Given the description of an element on the screen output the (x, y) to click on. 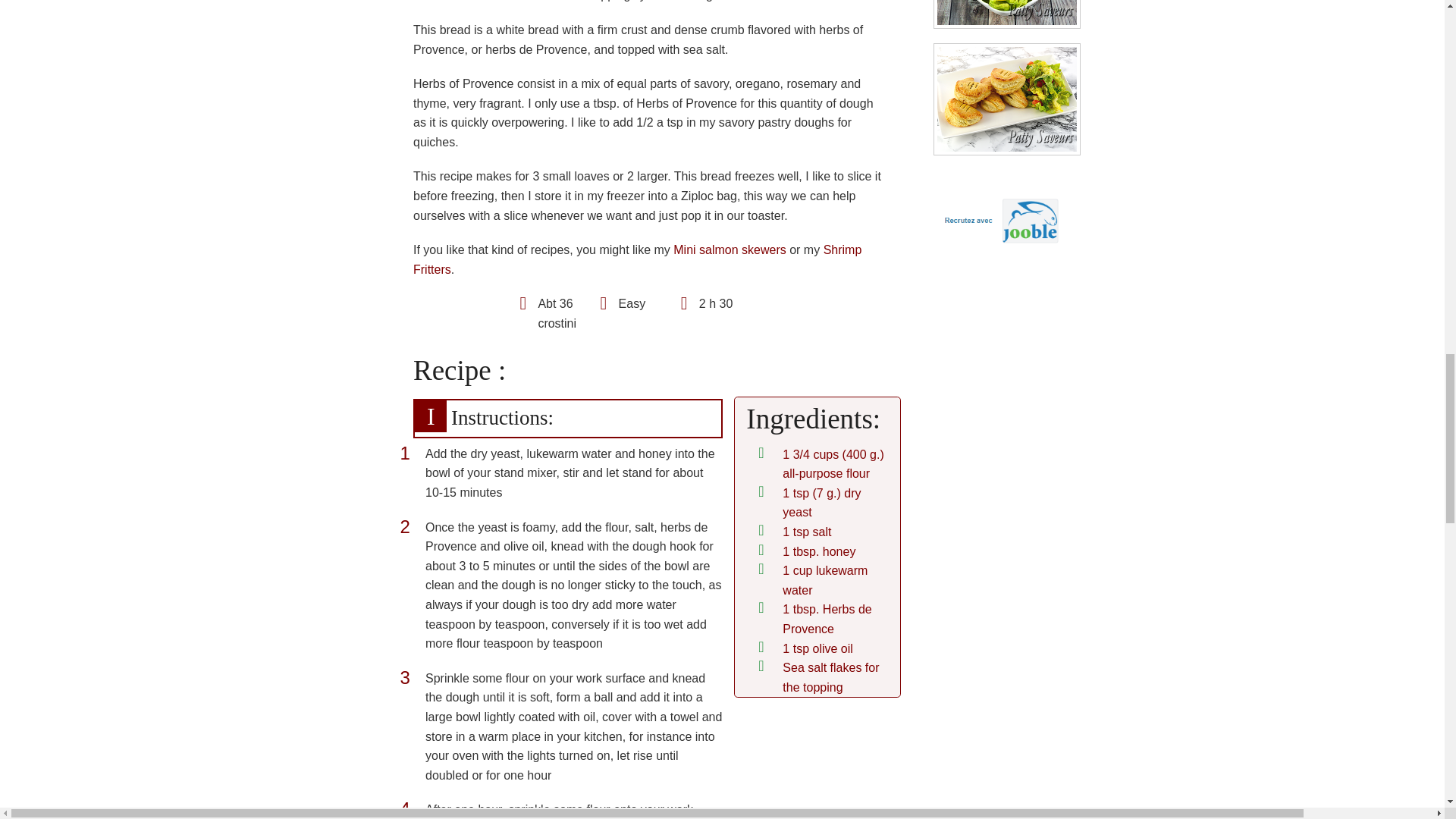
Shrimp Fritters (637, 259)
Mini salmon skewers (729, 249)
